Given the description of an element on the screen output the (x, y) to click on. 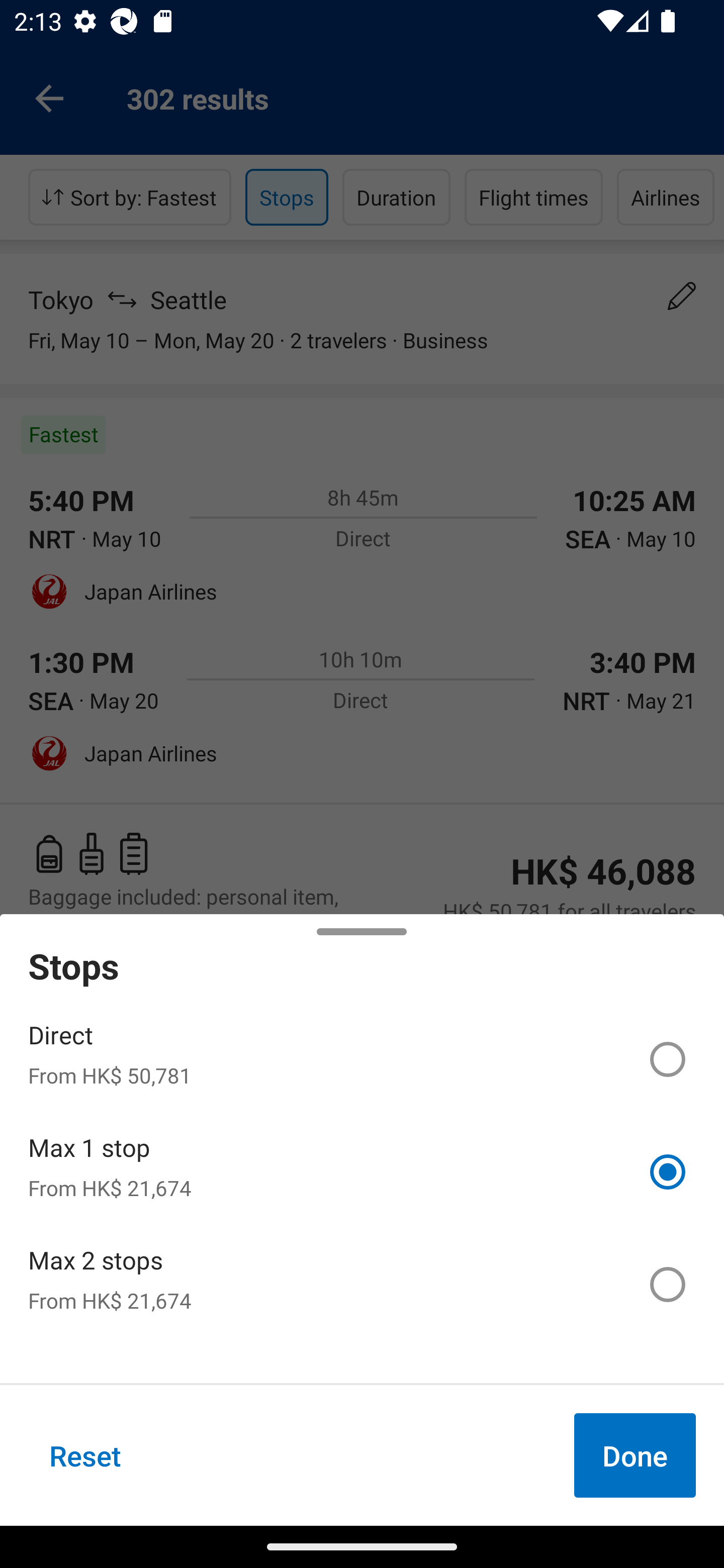
Direct From HK$ 50,781 (362, 1059)
Max 1 stop From HK$ 21,674 (362, 1171)
Max 2 stops From HK$ 21,674 (362, 1283)
Reset (85, 1454)
Done (634, 1454)
